Given the description of an element on the screen output the (x, y) to click on. 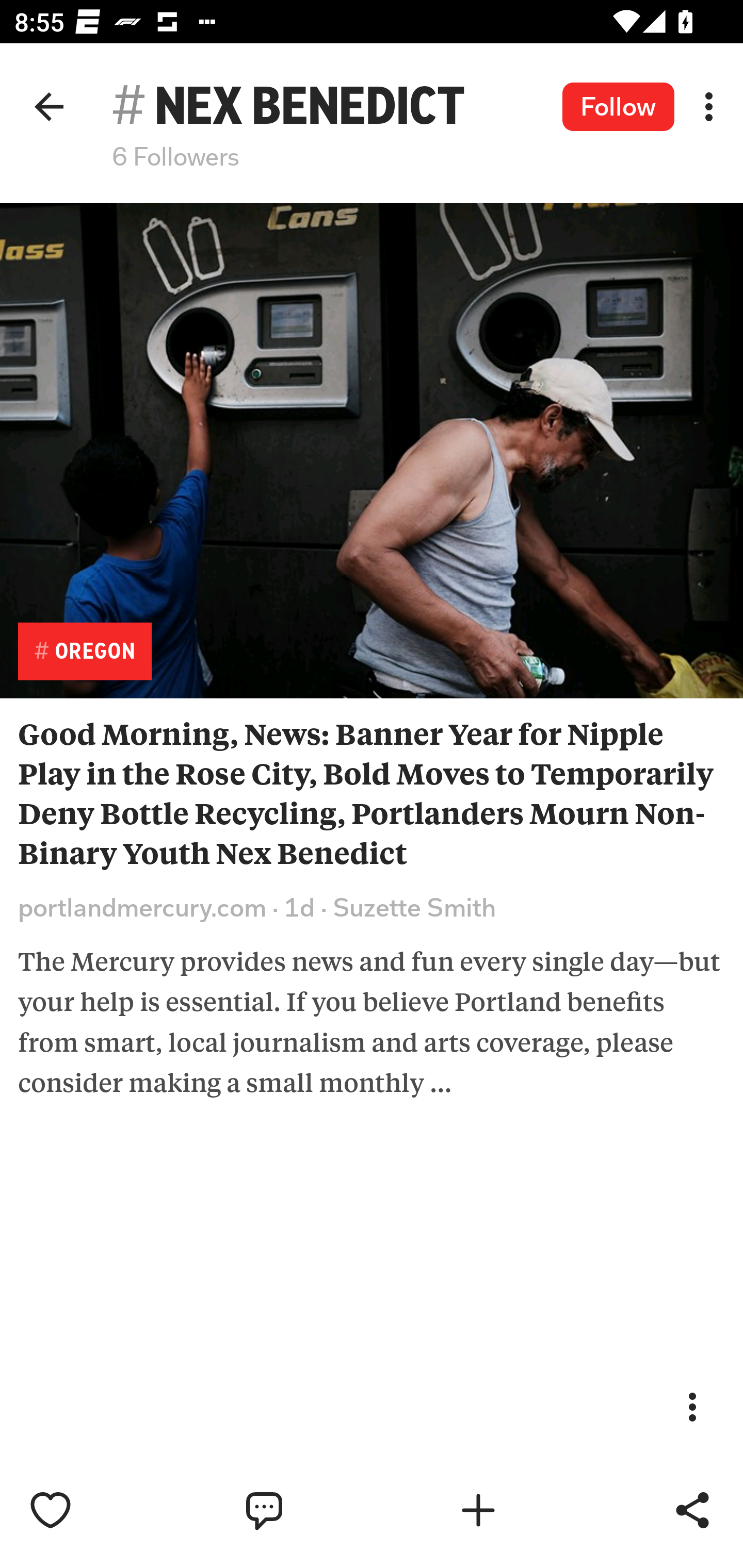
Back (48, 106)
Options (708, 106)
Follow (618, 107)
# OREGON (84, 651)
More (692, 1406)
Like (93, 1509)
Write a comment… (307, 1509)
Flip into Magazine (521, 1509)
Share (692, 1509)
